Given the description of an element on the screen output the (x, y) to click on. 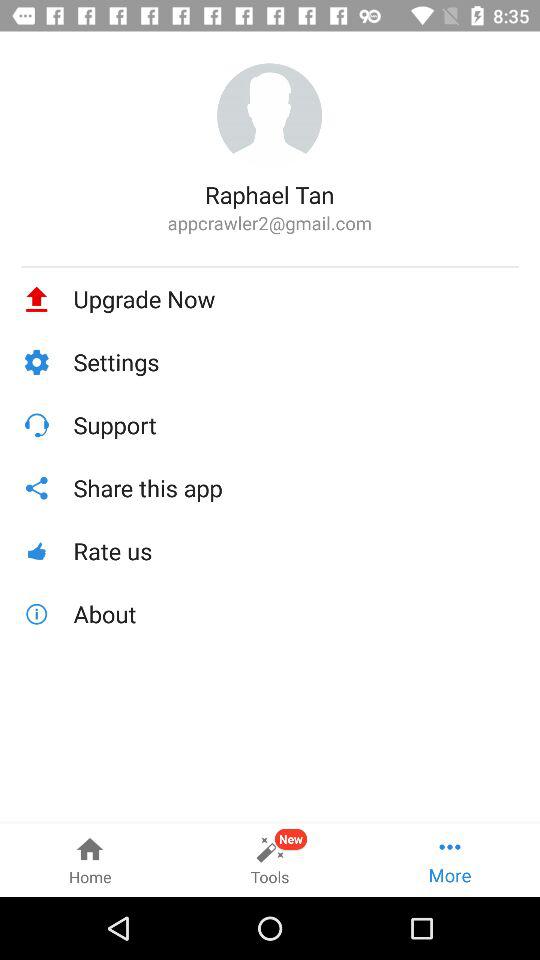
choose icon above the rate us (296, 487)
